Given the description of an element on the screen output the (x, y) to click on. 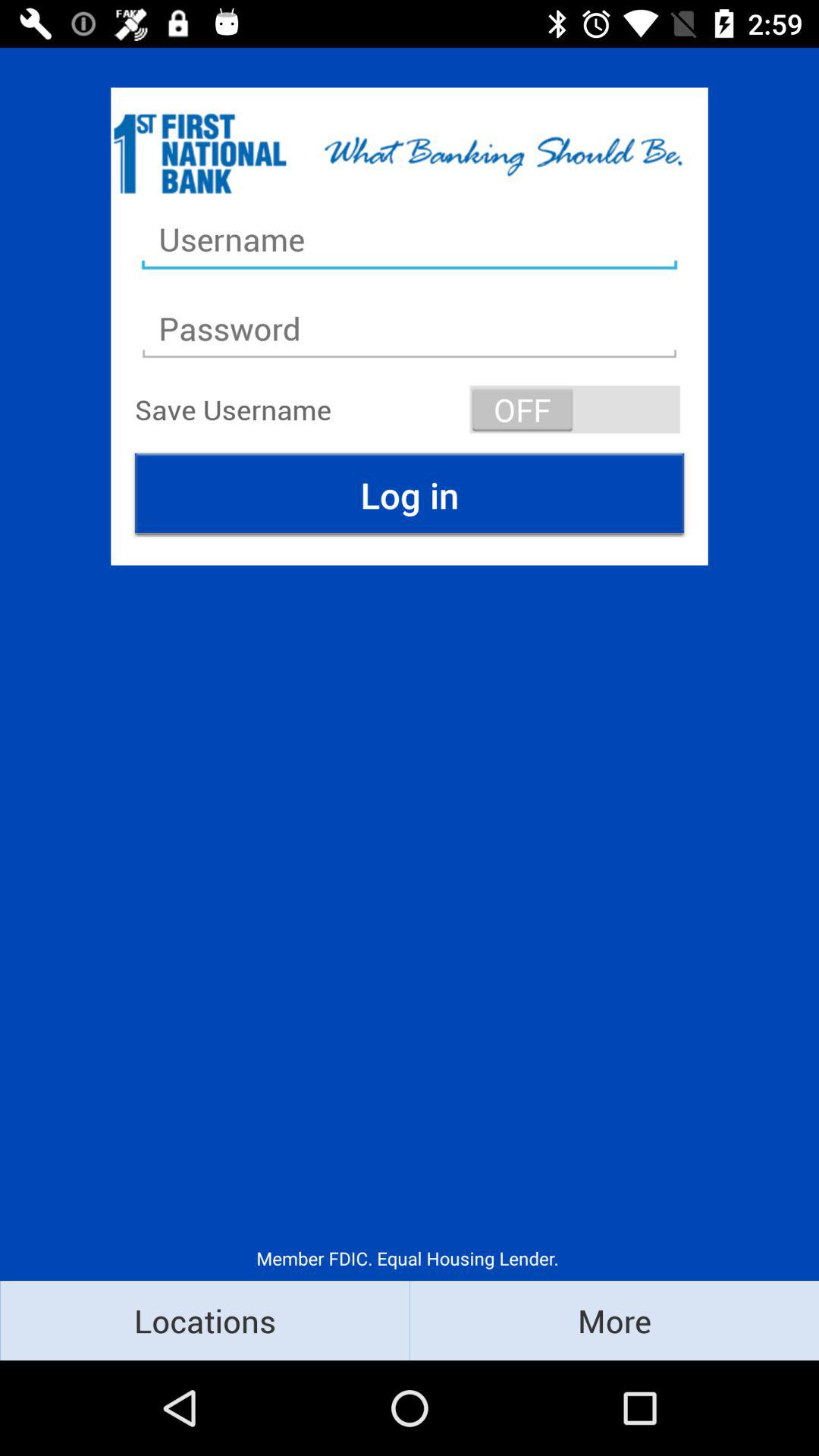
swipe to the more item (614, 1320)
